Given the description of an element on the screen output the (x, y) to click on. 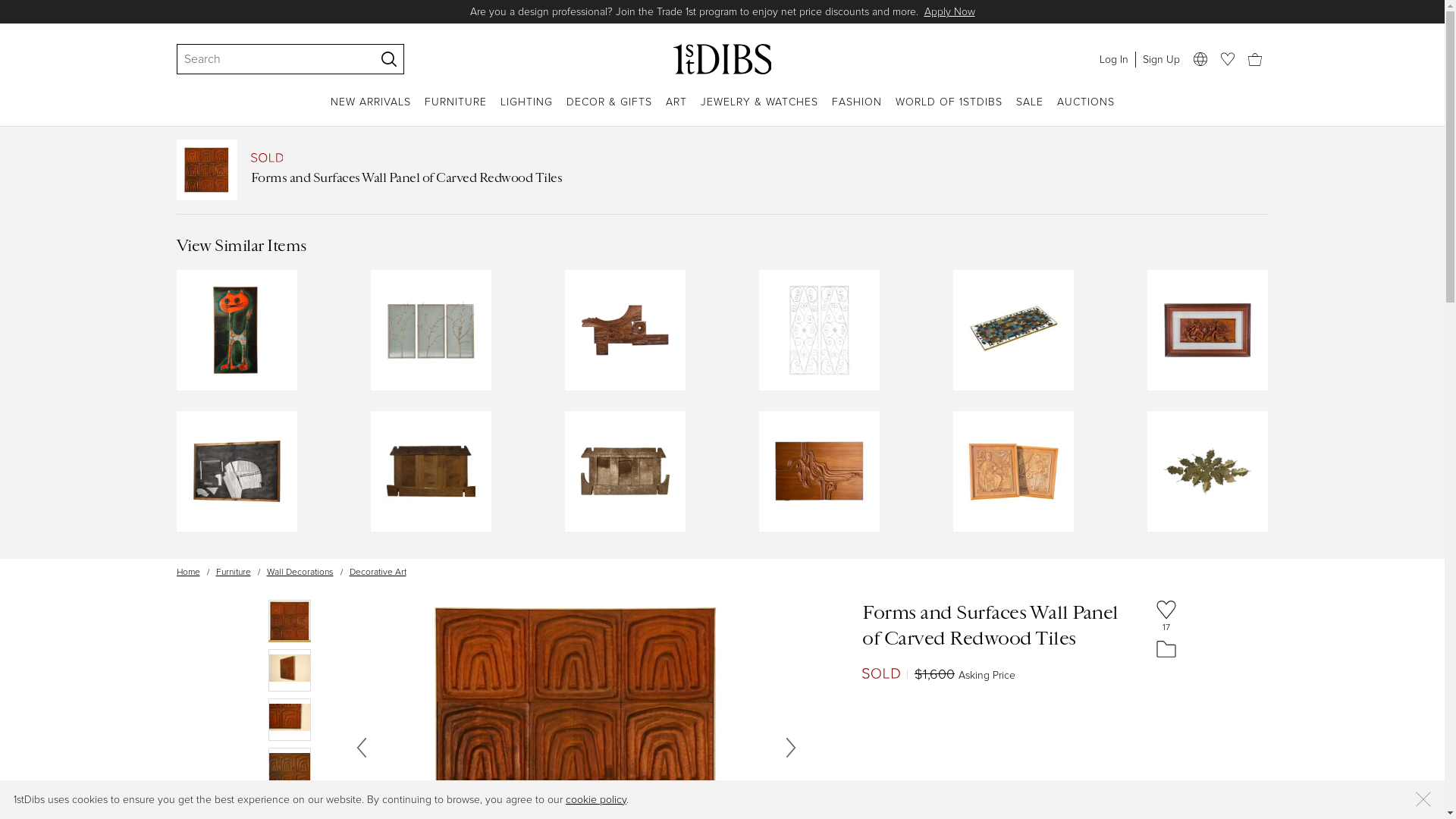
FASHION Element type: text (856, 109)
cookie policy Element type: text (595, 799)
FURNITURE Element type: text (455, 109)
Home Element type: text (187, 571)
Decorative Art Element type: text (376, 571)
SKIP TO MAIN CONTENT Element type: text (6, 6)
LIGHTING Element type: text (526, 109)
Log In Element type: text (1113, 59)
Wall Decorations Element type: text (299, 571)
Details Element type: text (885, 11)
AUCTIONS Element type: text (1085, 109)
NEW ARRIVALS Element type: text (370, 109)
WORLD OF 1STDIBS Element type: text (947, 109)
JEWELRY & WATCHES Element type: text (759, 109)
ART Element type: text (676, 109)
Search Element type: hover (268, 58)
Sign Up Element type: text (1160, 59)
Furniture Element type: text (232, 571)
DECOR & GIFTS Element type: text (608, 109)
SALE Element type: text (1029, 109)
